Given the description of an element on the screen output the (x, y) to click on. 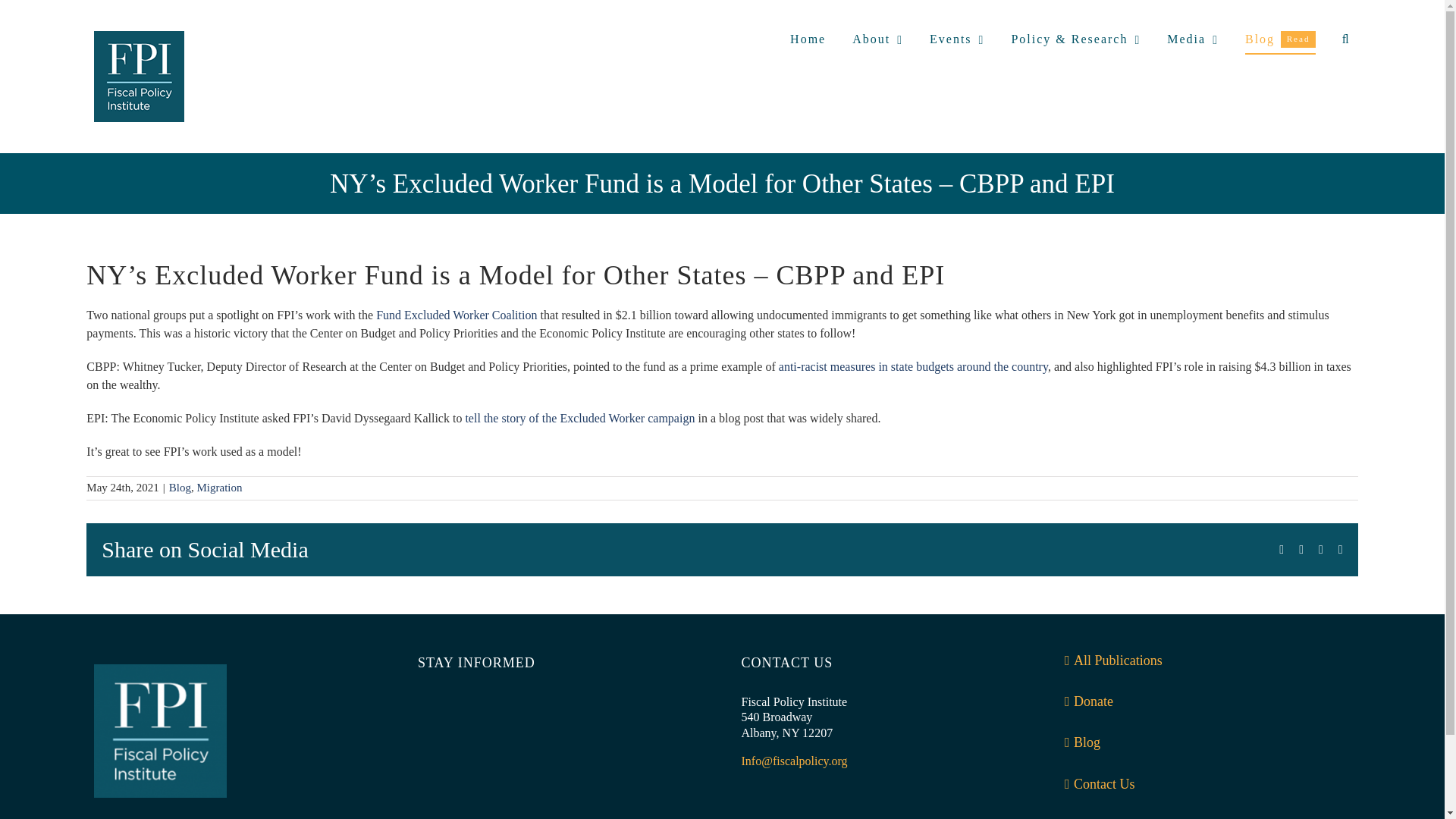
tell the story of the Excluded Worker campaign (579, 418)
Fund Excluded Worker Coalition (1280, 39)
anti-racist measures in state budgets around the country (456, 314)
